Given the description of an element on the screen output the (x, y) to click on. 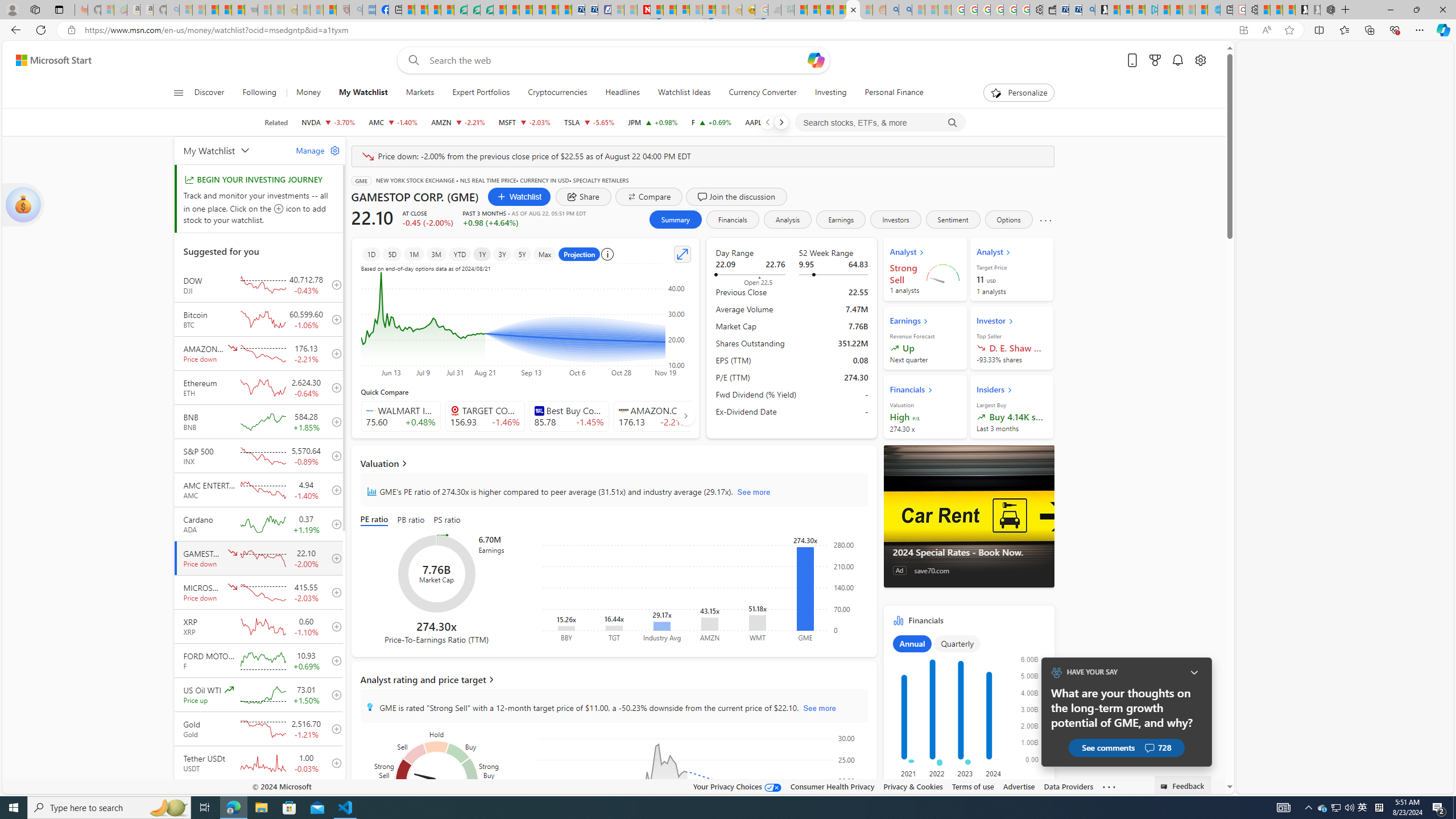
LendingTree - Compare Lenders (460, 9)
show card (22, 204)
Student Loan Update: Forgiveness Program Ends This Month (839, 9)
Markets (420, 92)
Personal Finance (893, 92)
2024 Special Rates - Book Now. (968, 516)
Cryptocurrencies (557, 92)
TSLA TESLA, INC. decrease 210.66 -12.61 -5.65% (589, 122)
Projection (579, 254)
5D (391, 254)
